Given the description of an element on the screen output the (x, y) to click on. 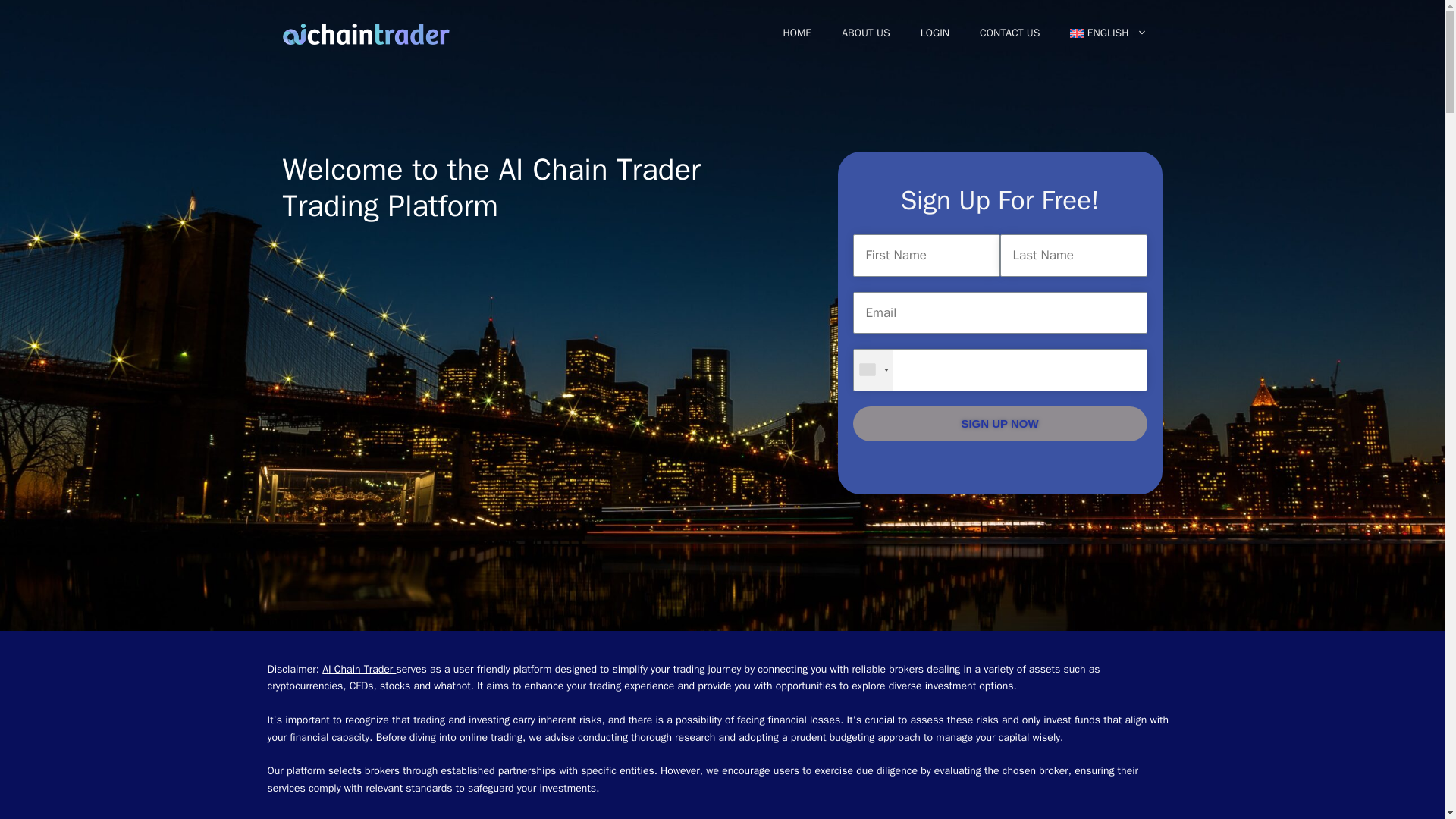
ENGLISH (1107, 32)
LOGIN (934, 32)
SIGN UP NOW (999, 424)
HOME (797, 32)
CONTACT US (1008, 32)
AI Chain Trader (358, 668)
English (1107, 32)
ABOUT US (866, 32)
